Given the description of an element on the screen output the (x, y) to click on. 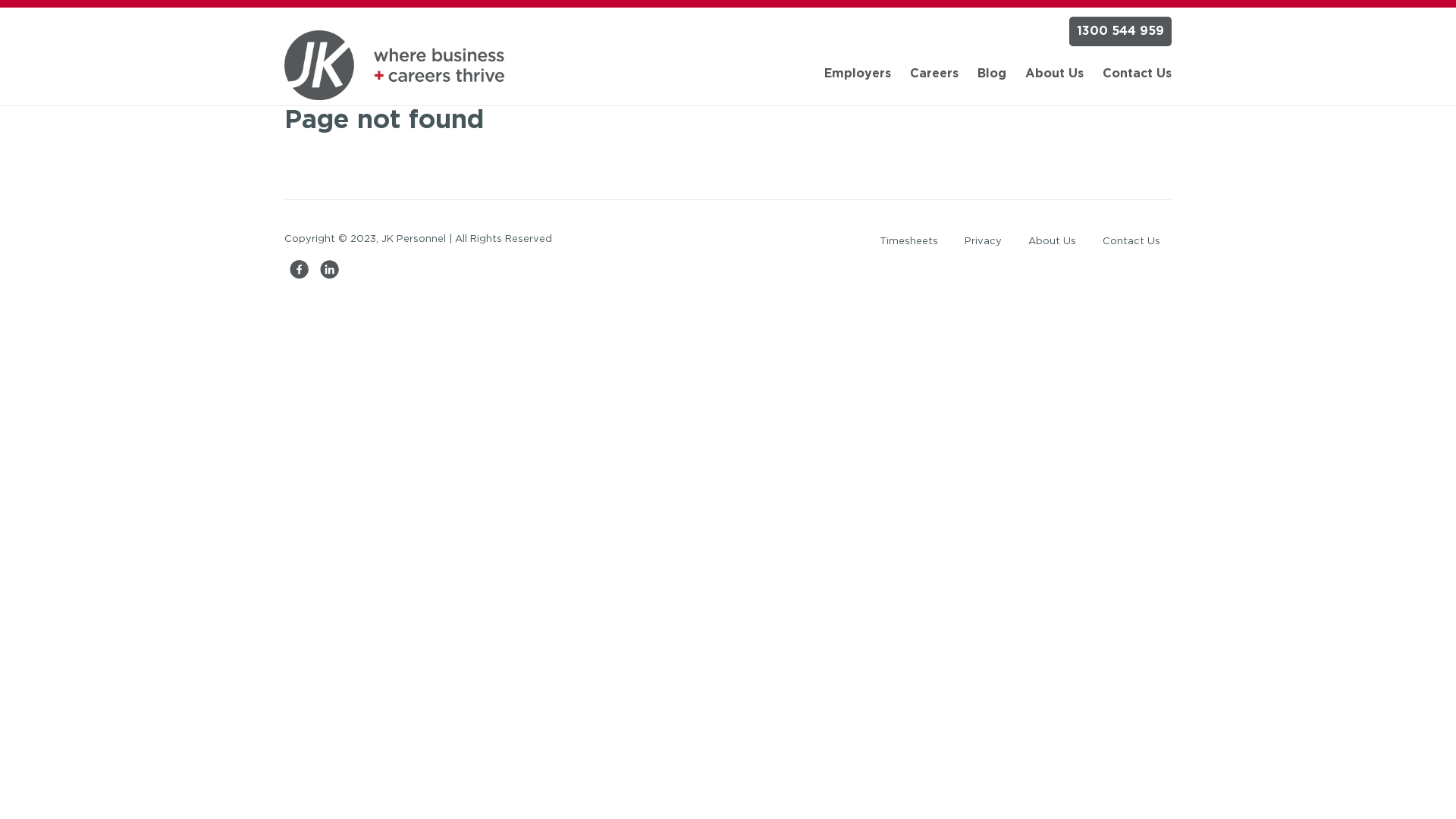
Blog Element type: text (991, 73)
Contact Us Element type: text (1136, 73)
Contact Us Element type: text (1131, 241)
Timesheets Element type: text (908, 241)
About Us Element type: text (1051, 241)
About Us Element type: text (1054, 73)
1300 544 959 Element type: text (1120, 31)
Employers Element type: text (857, 73)
Skip to main content Element type: text (64, 6)
Careers Element type: text (934, 73)
Privacy Element type: text (983, 241)
